Given the description of an element on the screen output the (x, y) to click on. 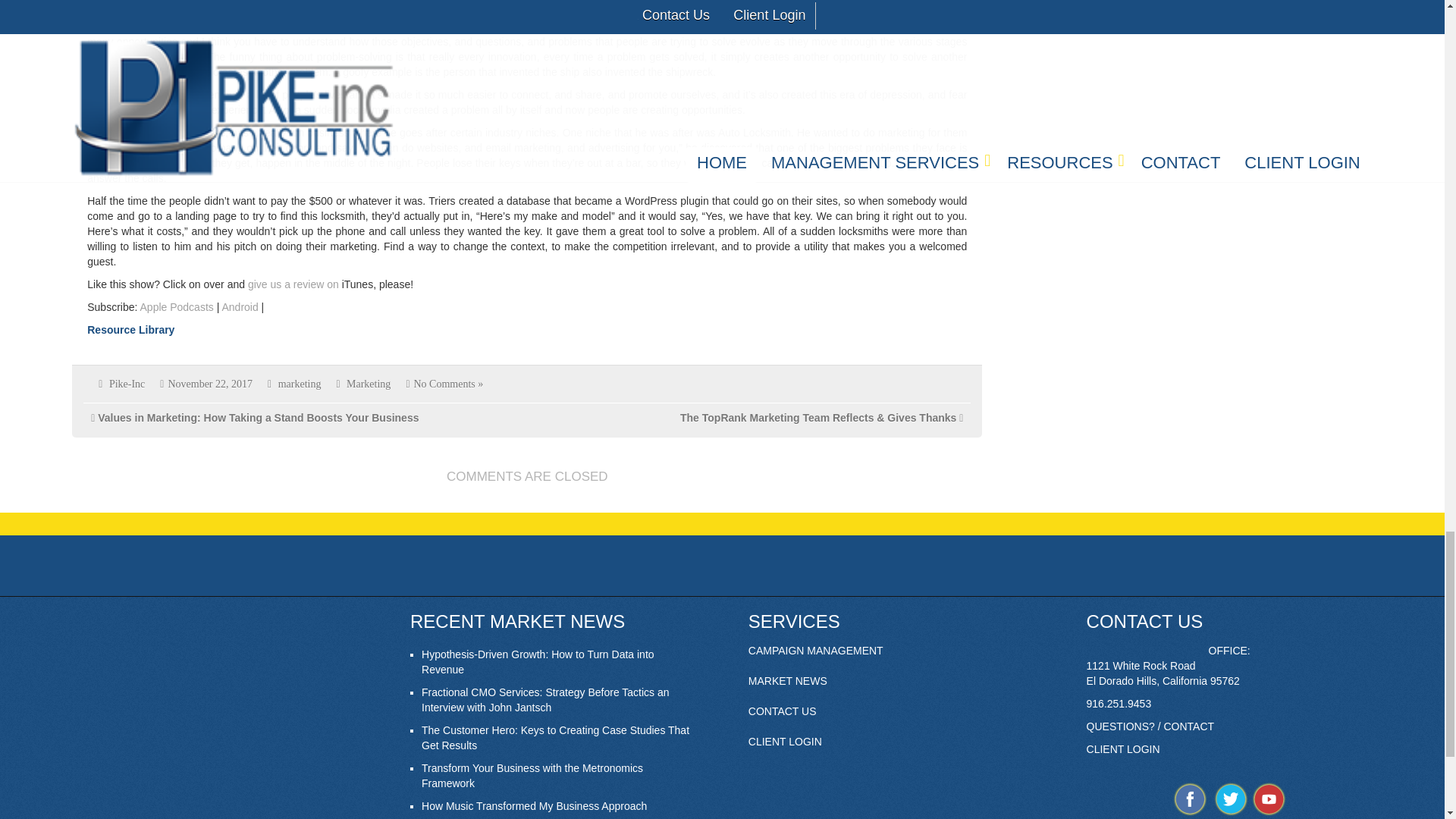
give us a review on (293, 284)
Subscribe on Apple Podcasts (176, 306)
Android (239, 306)
Apple Podcasts (176, 306)
Hypothesis-Driven Growth: How to Turn Data into Revenue (537, 661)
Values in Marketing: How Taking a Stand Boosts Your Business (258, 417)
marketing (299, 383)
Pike-Inc (126, 383)
Subscribe on Android (239, 306)
Posts by Pike-Inc (126, 383)
Marketing (368, 383)
Resource Library (130, 329)
